Given the description of an element on the screen output the (x, y) to click on. 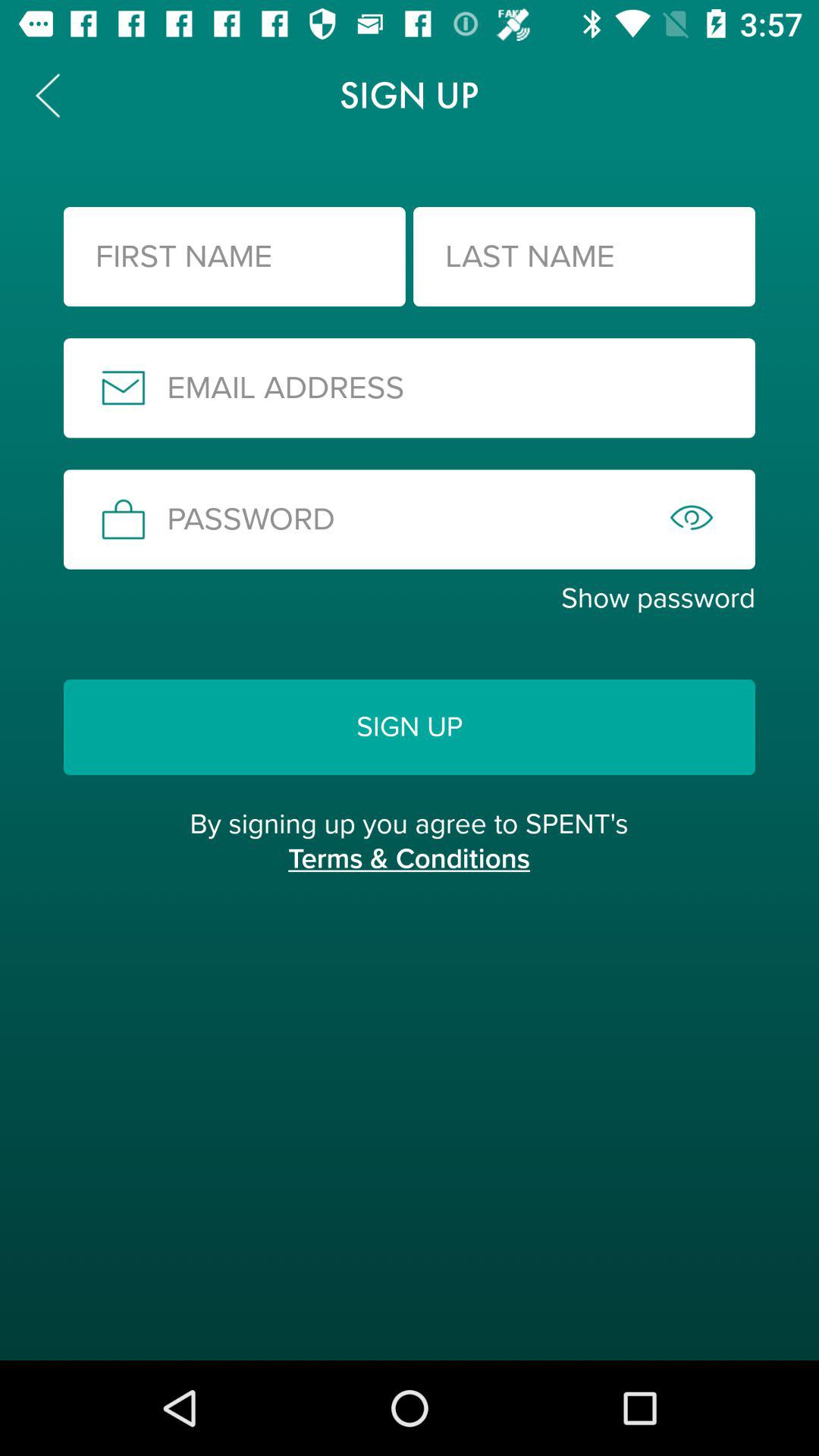
press icon to the left of the sign up item (47, 95)
